Given the description of an element on the screen output the (x, y) to click on. 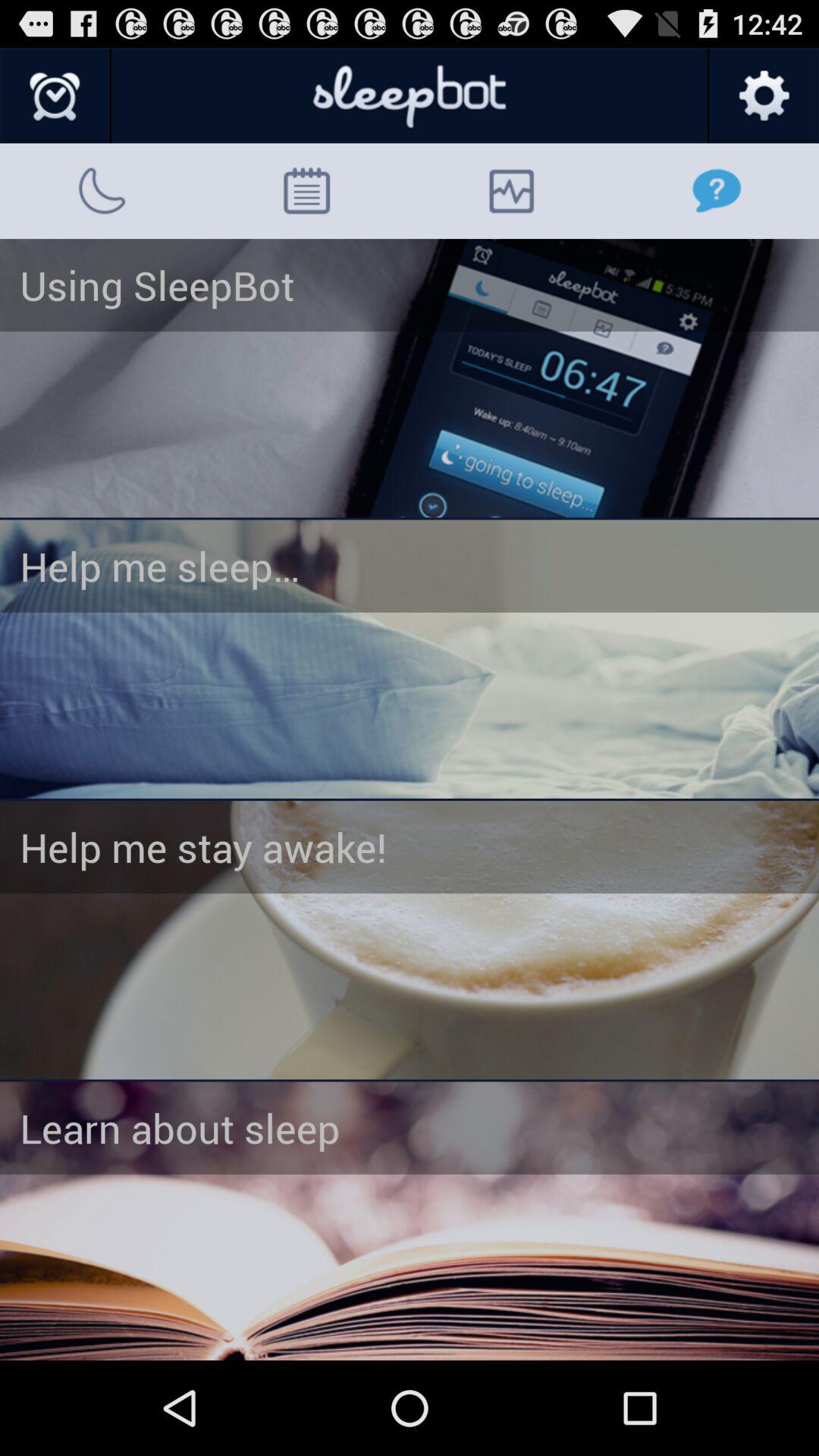
settings option (763, 96)
